Given the description of an element on the screen output the (x, y) to click on. 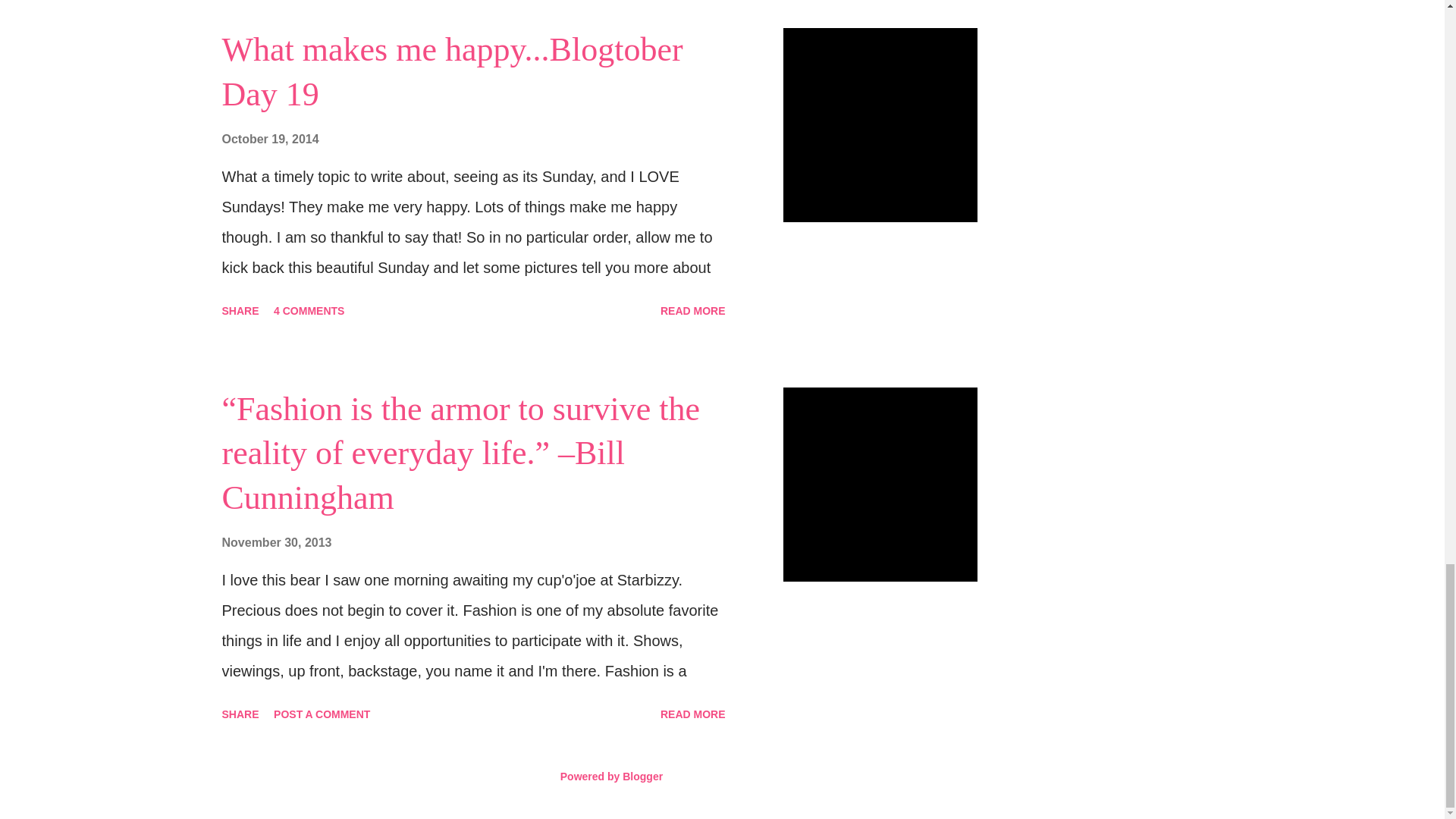
4 COMMENTS (308, 310)
October 19, 2014 (269, 138)
READ MORE (692, 310)
What makes me happy...Blogtober Day 19 (451, 72)
SHARE (239, 310)
